Given the description of an element on the screen output the (x, y) to click on. 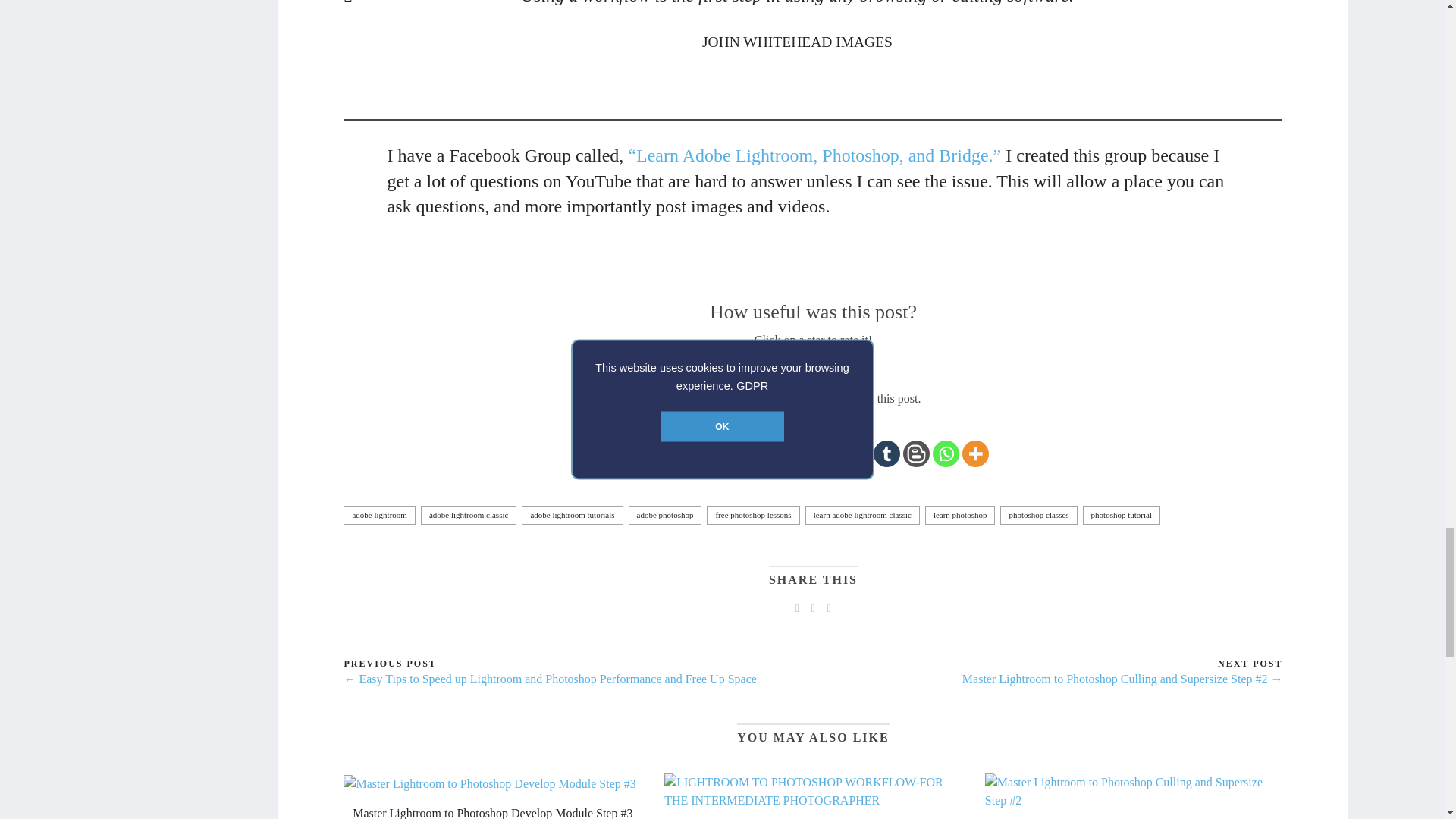
Tumblr (886, 453)
Youtube (797, 453)
Facebook (650, 453)
Instagram (768, 453)
Reddit (827, 453)
Pinterest (738, 453)
Linkedin (708, 453)
Mix (857, 453)
Twitter (679, 453)
Blogger Post (916, 453)
